Given the description of an element on the screen output the (x, y) to click on. 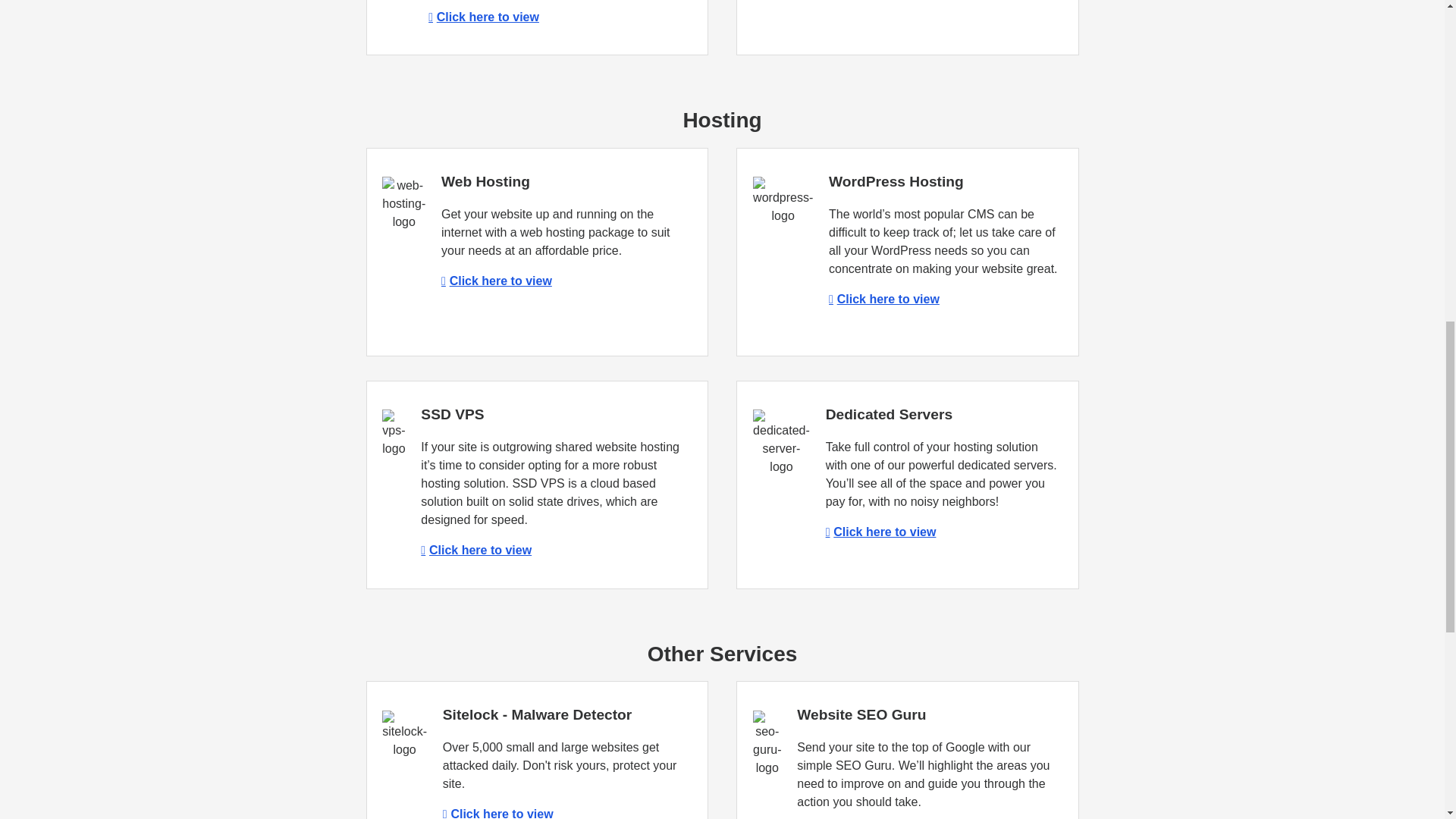
Click here to view (883, 298)
Click here to view (496, 280)
Click here to view (483, 16)
Click here to view (880, 531)
Click here to view (497, 813)
Click here to view (475, 549)
